Given the description of an element on the screen output the (x, y) to click on. 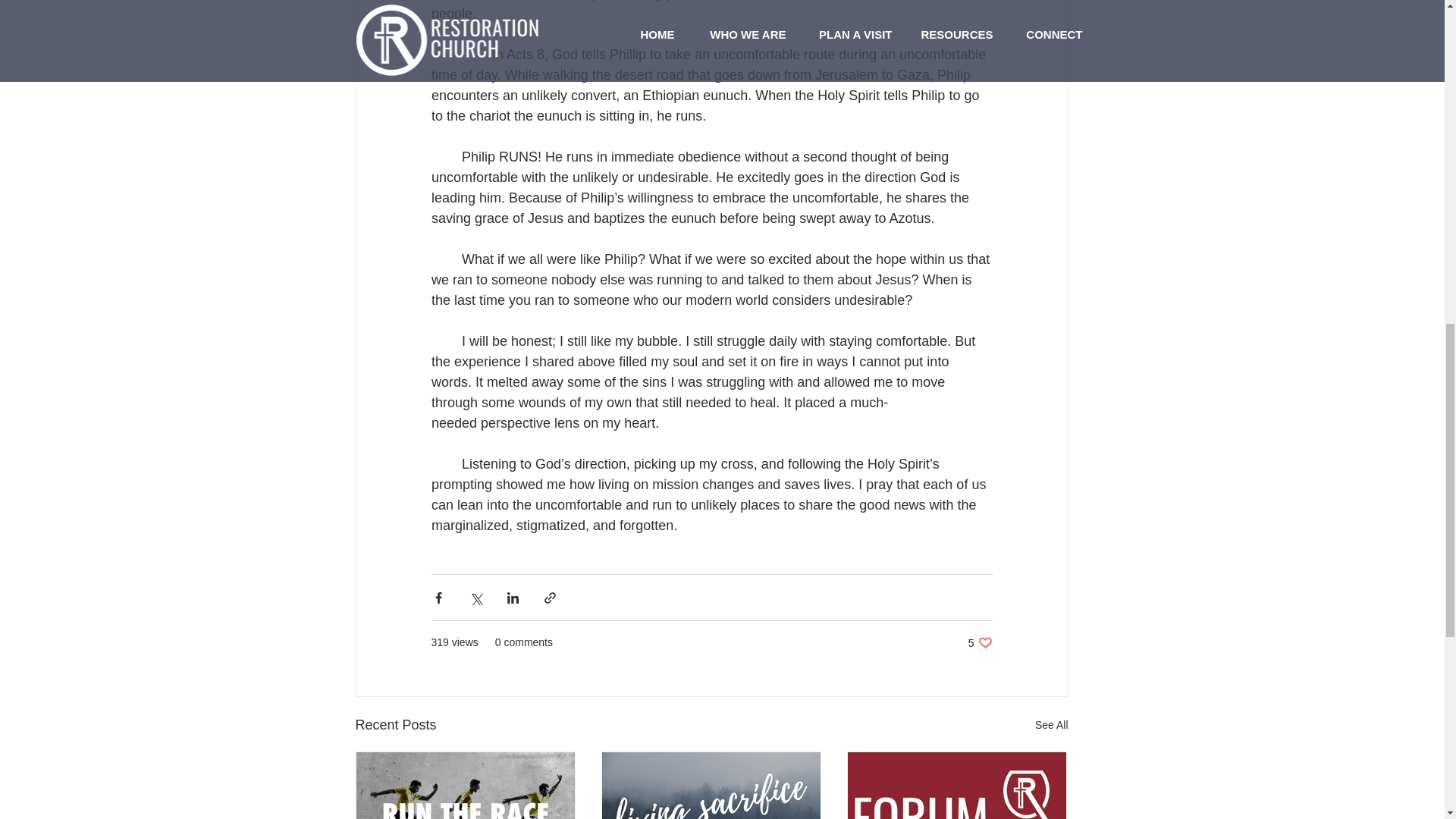
See All (1051, 725)
